Given the description of an element on the screen output the (x, y) to click on. 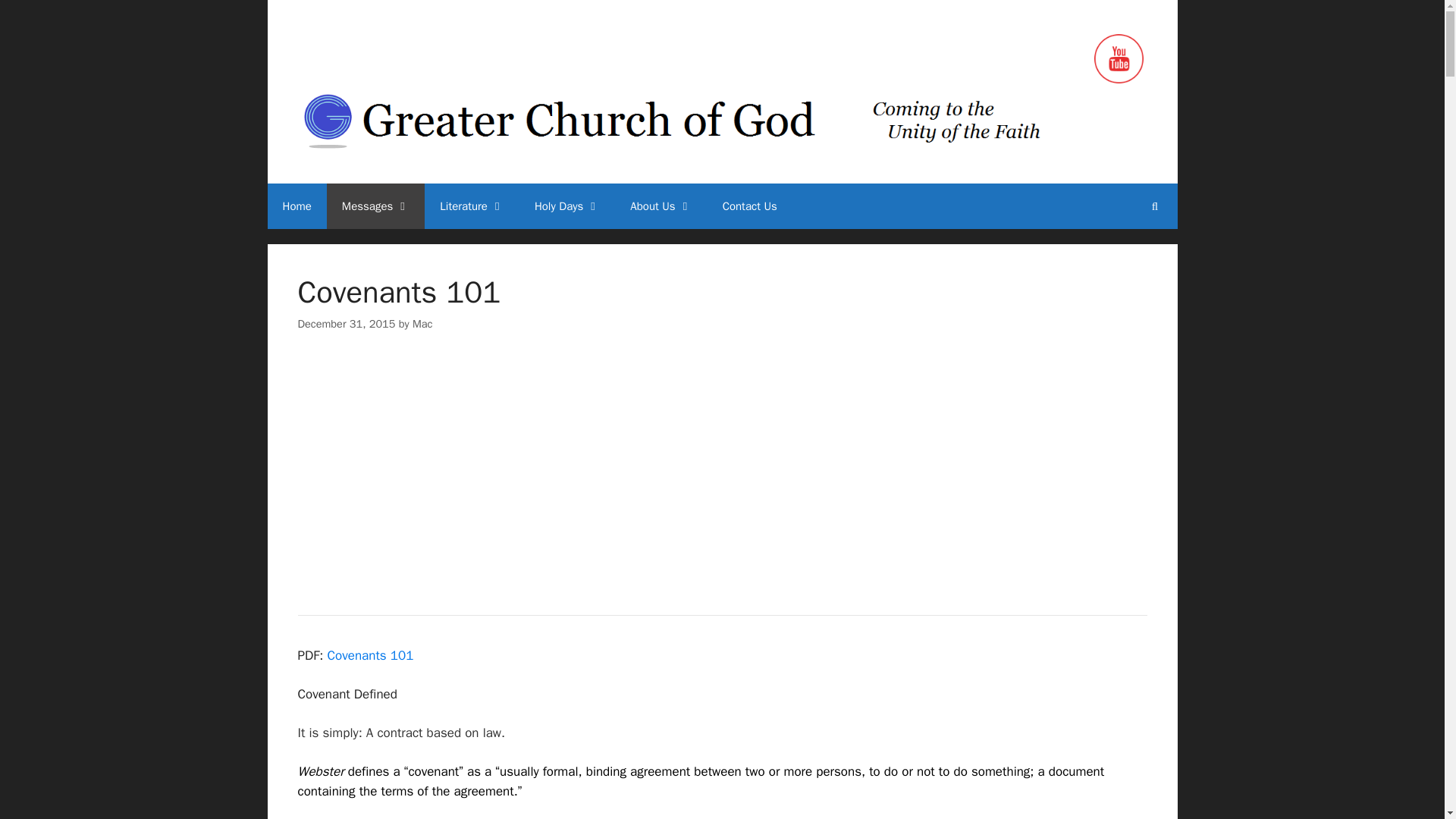
Contact Us (749, 206)
View all posts by Mac (422, 323)
About Us (660, 206)
5:37 PM (345, 323)
Messages (375, 206)
Covenants 101 (458, 449)
Greater Church of God (706, 122)
Holy Days (566, 206)
Literature (472, 206)
Greater Church of God (706, 122)
